Given the description of an element on the screen output the (x, y) to click on. 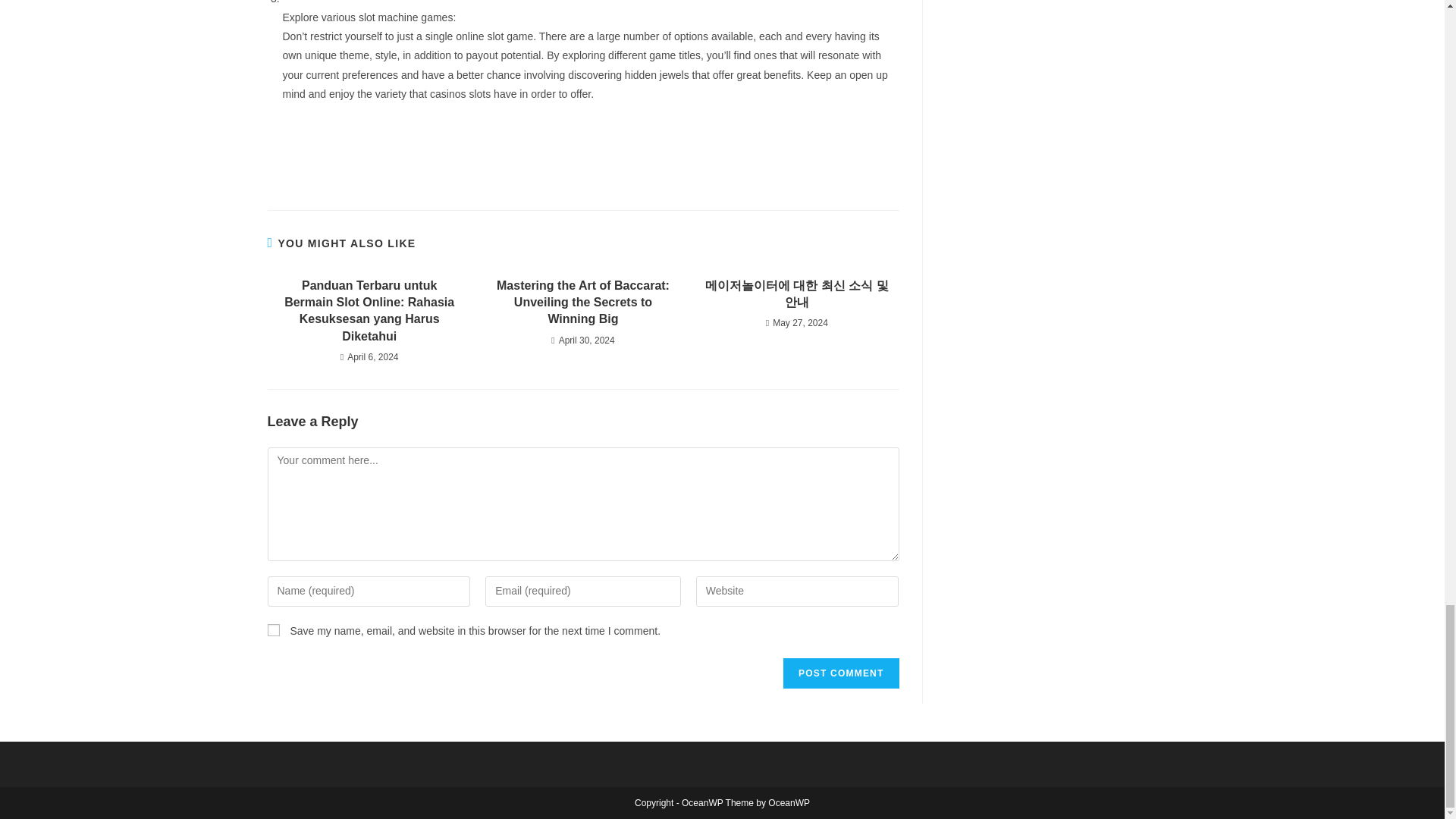
Post Comment (840, 673)
yes (272, 630)
Post Comment (840, 673)
